Given the description of an element on the screen output the (x, y) to click on. 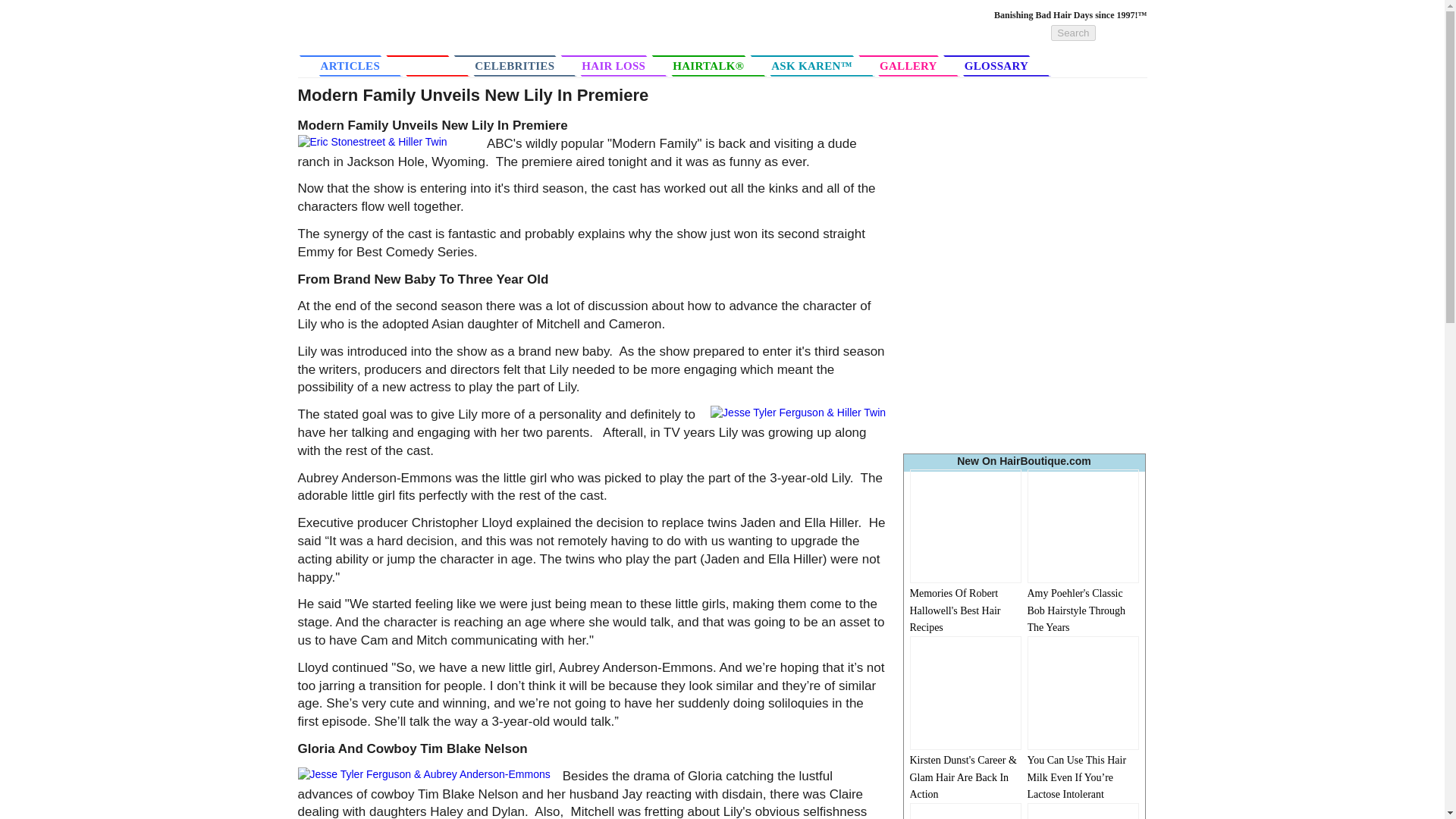
GALLERY (917, 65)
HAIR LOSS (622, 65)
Search (1072, 32)
CELEBRITIES (523, 65)
GLOSSARY (1005, 65)
Maren Morris' W Curtain Bangs (1082, 812)
Click to go to the home page. (406, 40)
BLOGS (436, 65)
Maggie Rogers' Rockin Hairstyle (966, 812)
ARTICLES (350, 65)
